Given the description of an element on the screen output the (x, y) to click on. 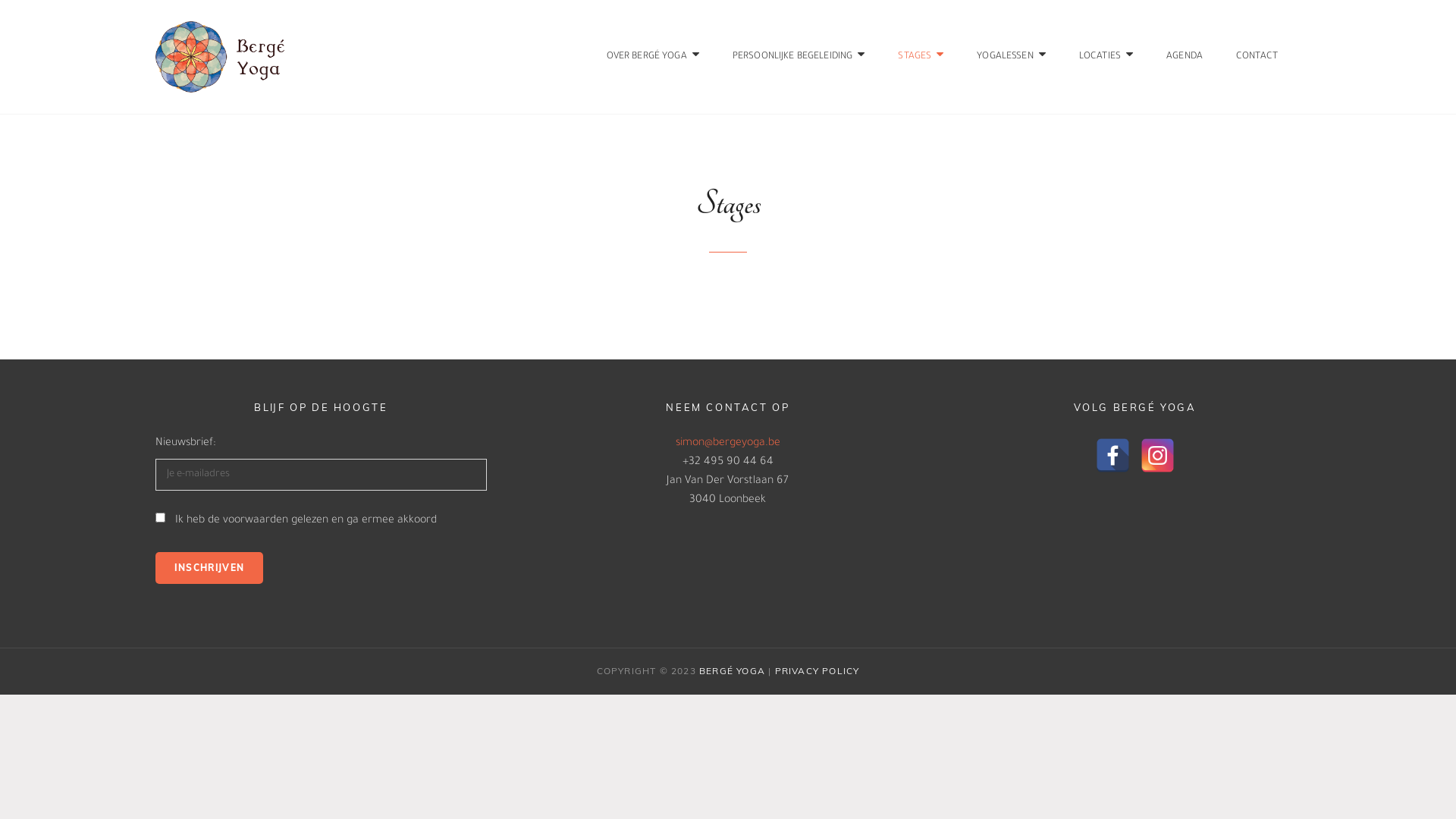
Inschrijven Element type: text (209, 567)
Ik heb de voorwaarden gelezen en ga ermee akkoord Element type: text (305, 520)
PRIVACY POLICY Element type: text (817, 670)
Facebook Element type: hover (1112, 455)
simon@bergeyoga.be Element type: text (727, 443)
PERSOONLIJKE BEGELEIDING Element type: text (798, 56)
CONTACT Element type: text (1256, 56)
AGENDA Element type: text (1184, 56)
YOGALESSEN Element type: text (1010, 56)
Instagram Element type: hover (1157, 455)
STAGES Element type: text (920, 56)
LOCATIES Element type: text (1105, 56)
